Given the description of an element on the screen output the (x, y) to click on. 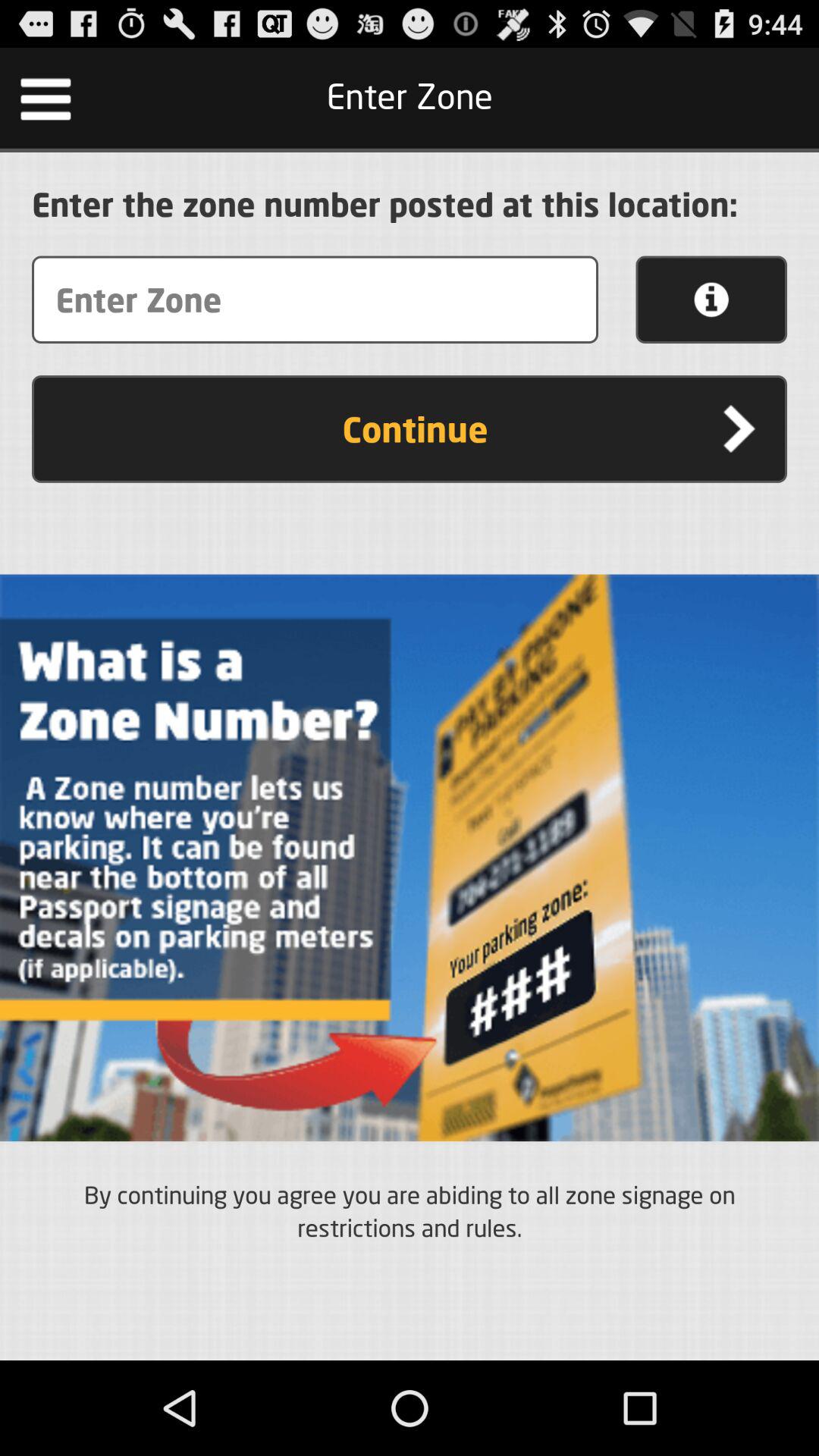
press the item below the enter the zone icon (711, 299)
